Given the description of an element on the screen output the (x, y) to click on. 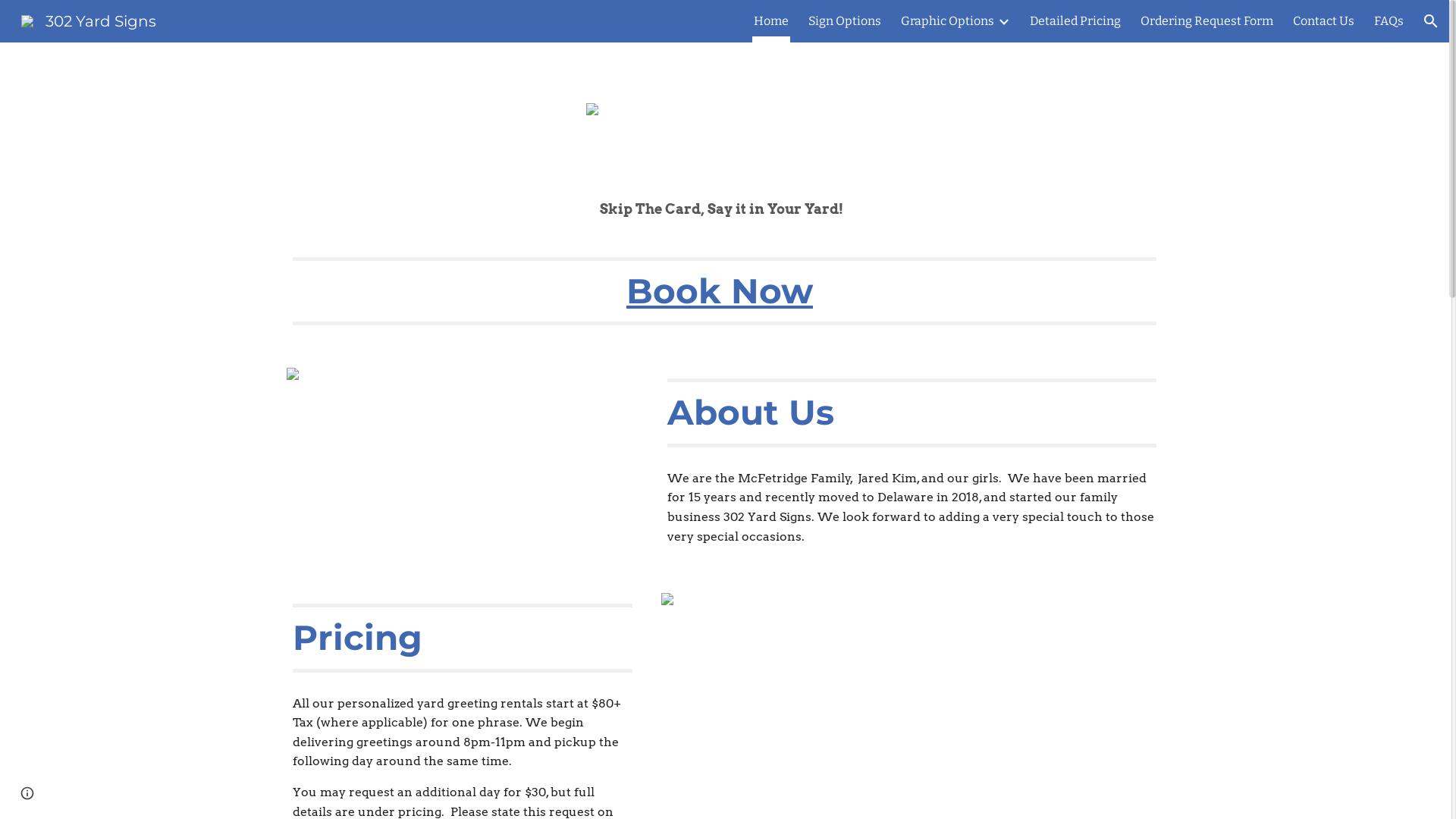
Detailed Pricing Element type: text (1074, 20)
Expand/Collapse Element type: hover (1003, 20)
Book Now Element type: text (719, 290)
FAQs Element type: text (1388, 20)
Ordering Request Form Element type: text (1206, 20)
Home Element type: text (770, 20)
302 Yard Signs Element type: text (88, 19)
Contact Us Element type: text (1323, 20)
Sign Options Element type: text (844, 20)
Graphic Options Element type: text (947, 20)
